Given the description of an element on the screen output the (x, y) to click on. 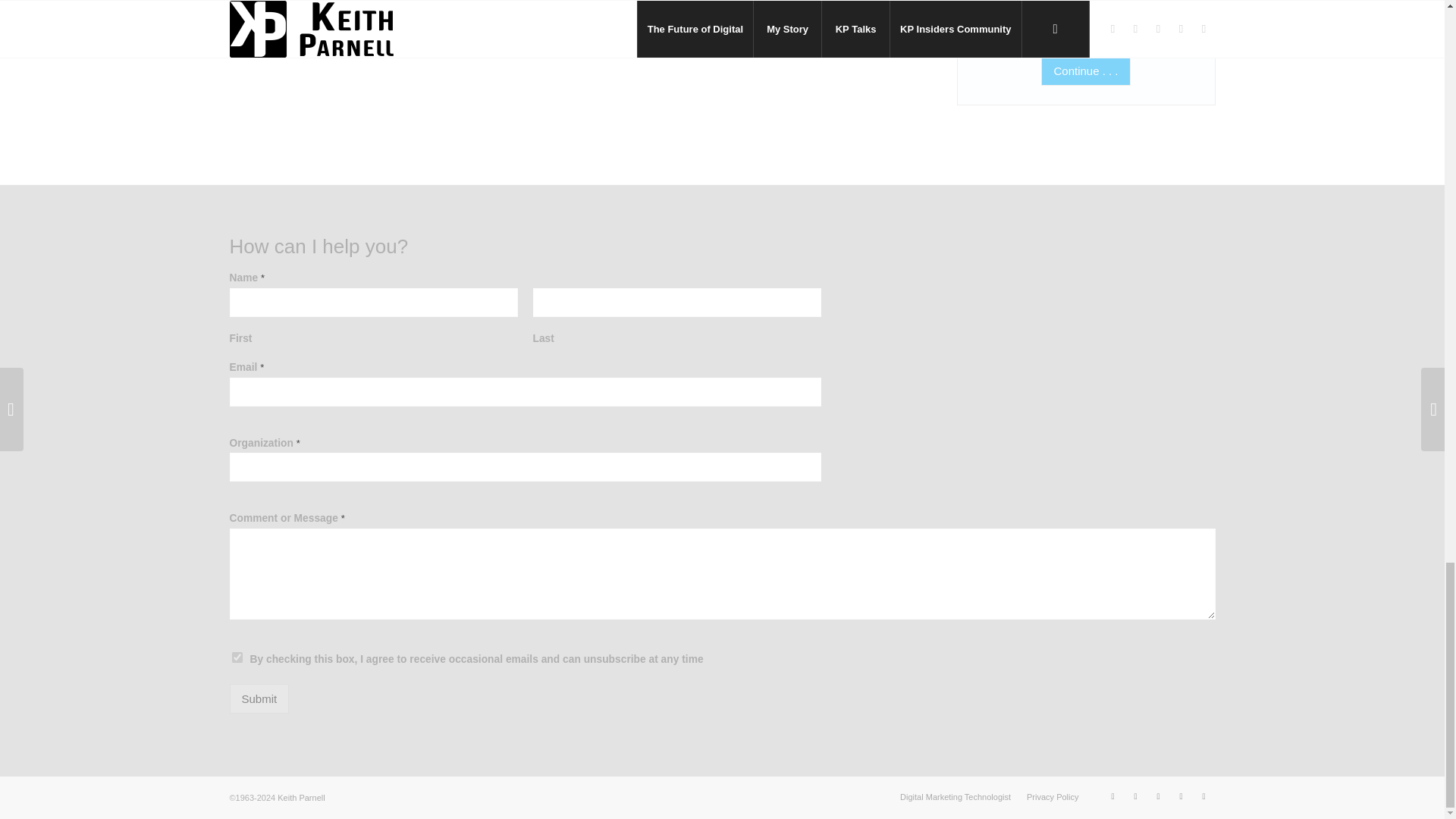
Continue . . . (1085, 70)
Submit (258, 698)
Digital Marketing Technologist (954, 796)
Keith Parnell (301, 797)
Privacy Policy (1052, 796)
